Given the description of an element on the screen output the (x, y) to click on. 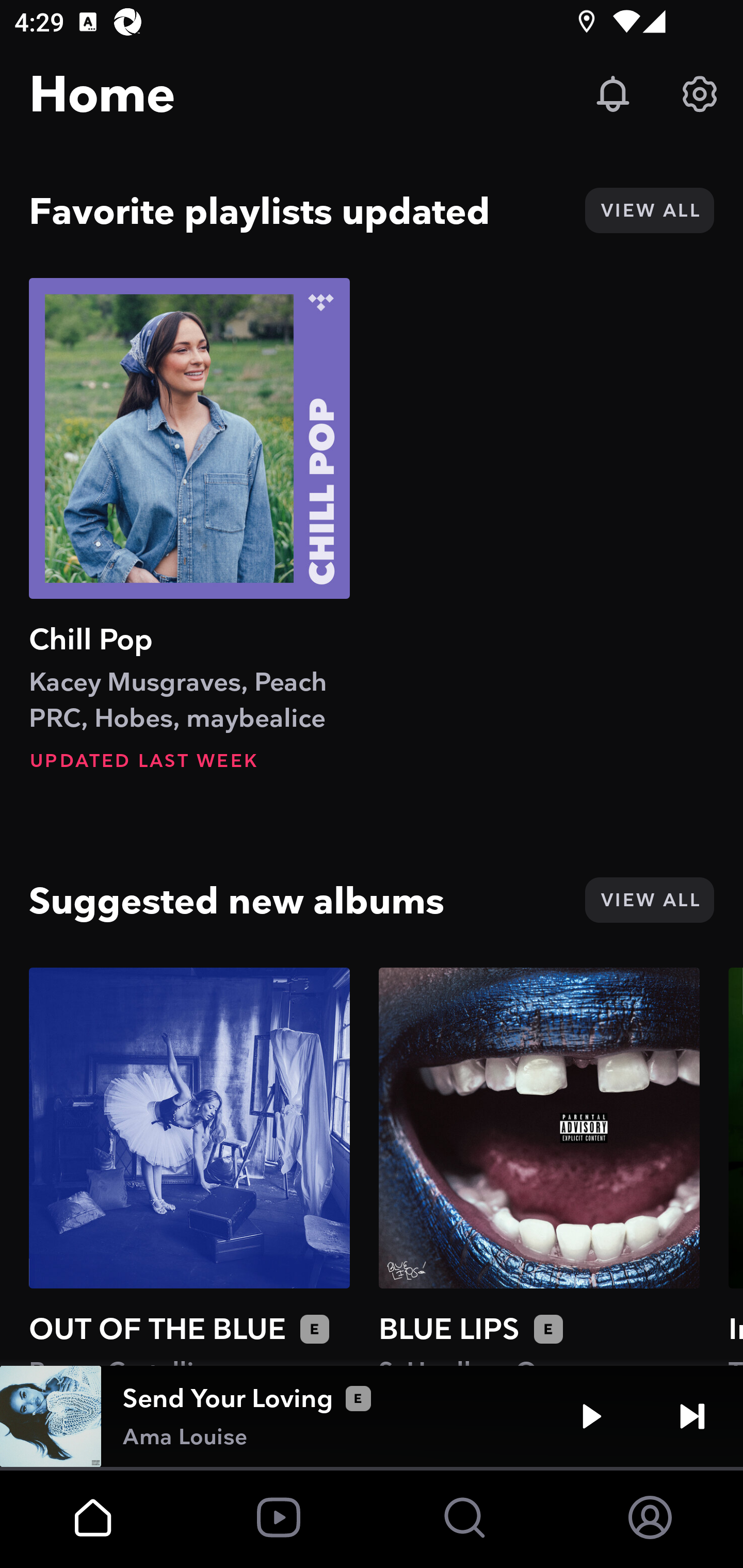
Updates (612, 93)
Settings (699, 93)
VIEW ALL (649, 210)
VIEW ALL (649, 899)
OUT OF THE BLUE Brynn Cartelli (188, 1166)
BLUE LIPS ScHoolboy Q (538, 1166)
Send Your Loving    Ama Louise Play (371, 1416)
Play (590, 1416)
